Given the description of an element on the screen output the (x, y) to click on. 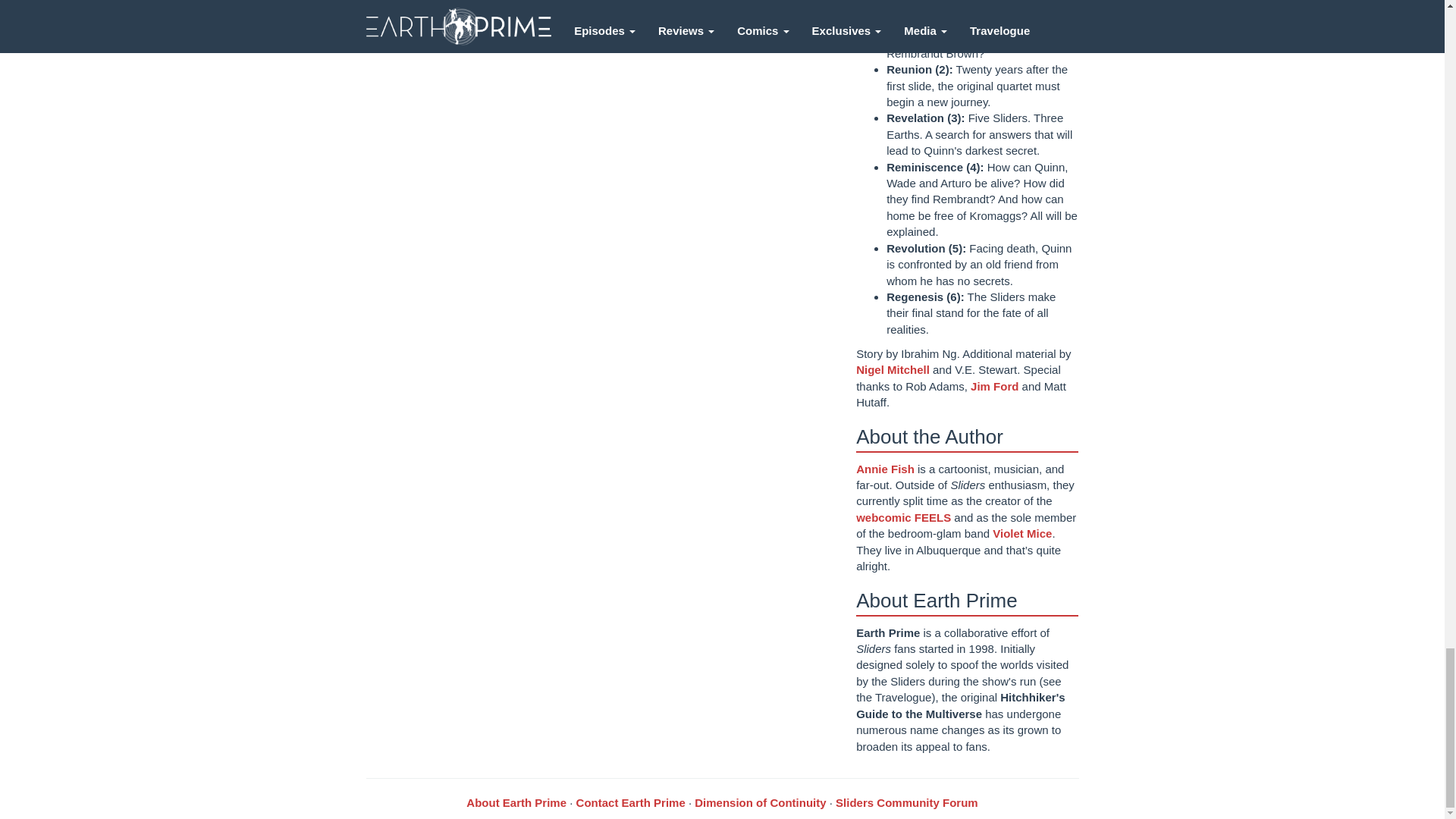
About Earth Prime (515, 802)
Contact Earth Prime (630, 802)
